Given the description of an element on the screen output the (x, y) to click on. 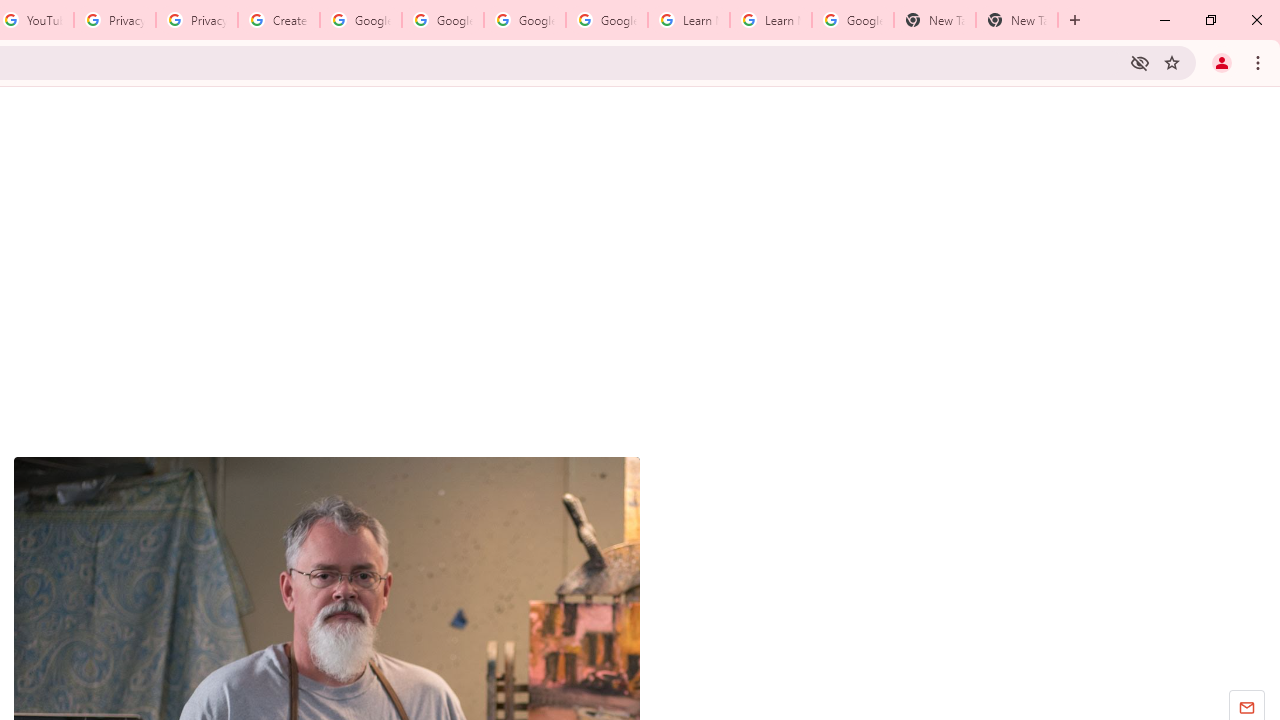
New Tab (1016, 20)
Google Account Help (606, 20)
New Tab (934, 20)
Create your Google Account (278, 20)
Google Account (852, 20)
Google Account Help (360, 20)
